Given the description of an element on the screen output the (x, y) to click on. 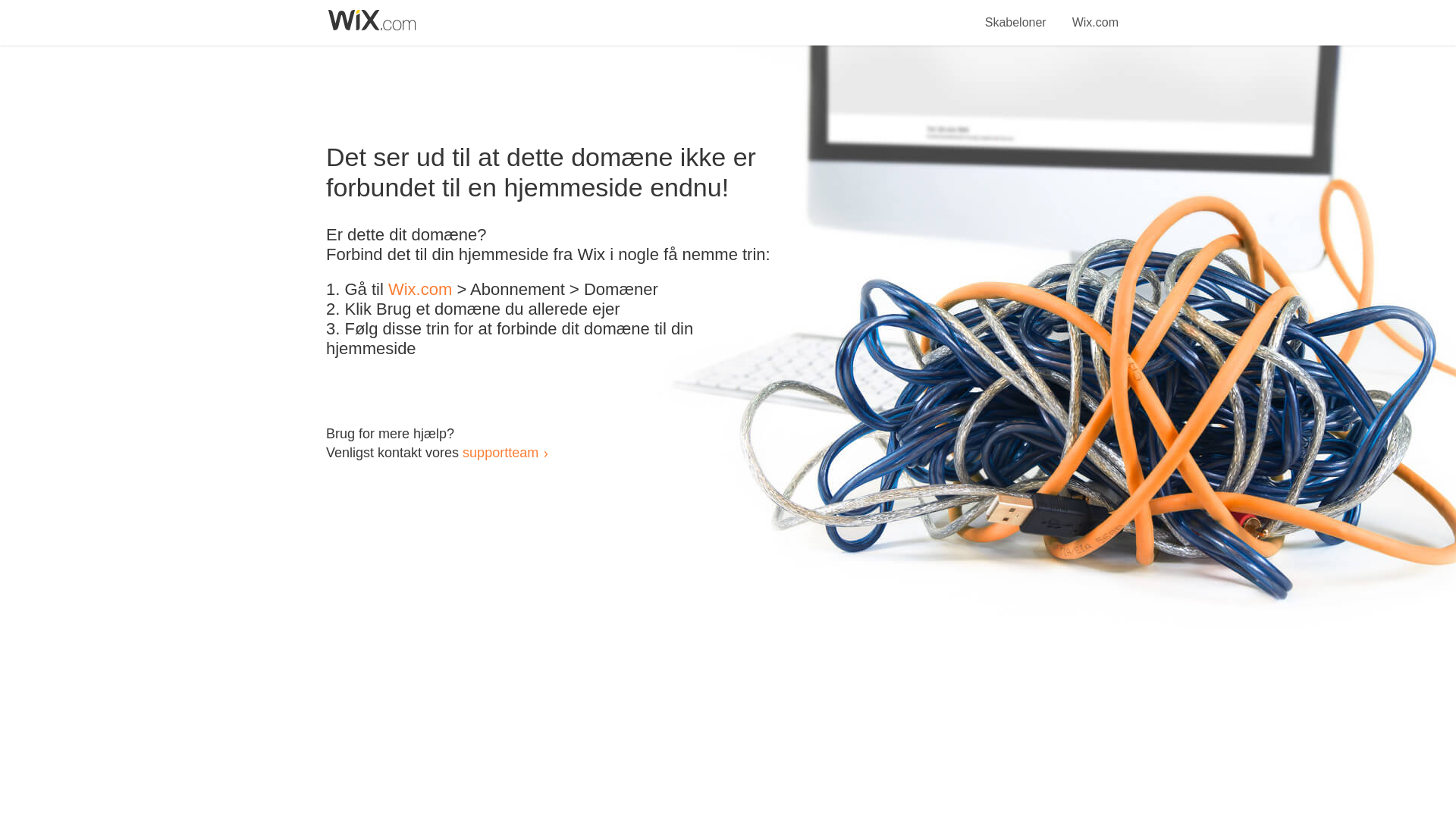
supportteam (500, 452)
Wix.com (419, 289)
Wix.com (1095, 14)
Skabeloner (1016, 14)
